Given the description of an element on the screen output the (x, y) to click on. 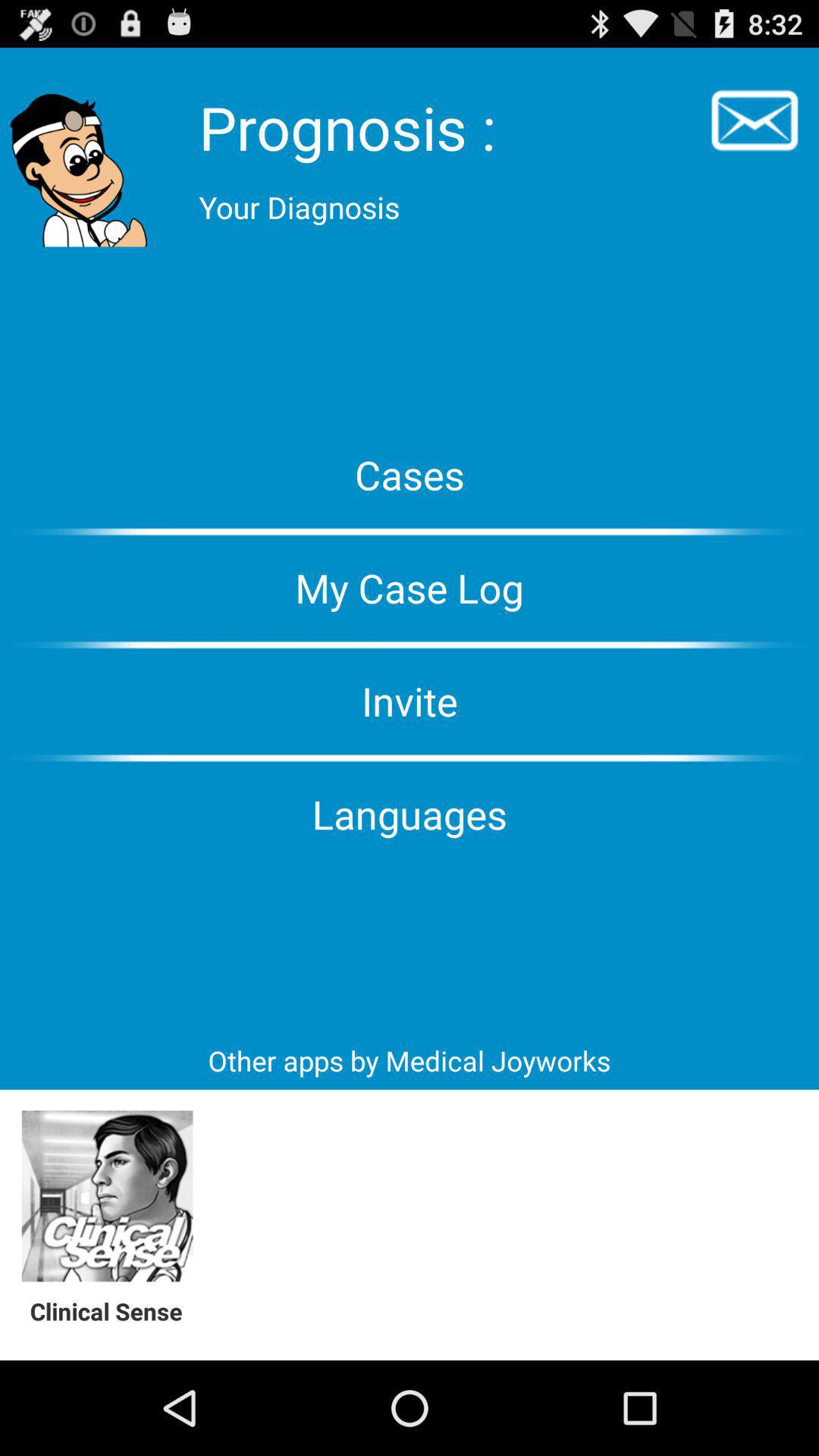
flip until invite (409, 700)
